Given the description of an element on the screen output the (x, y) to click on. 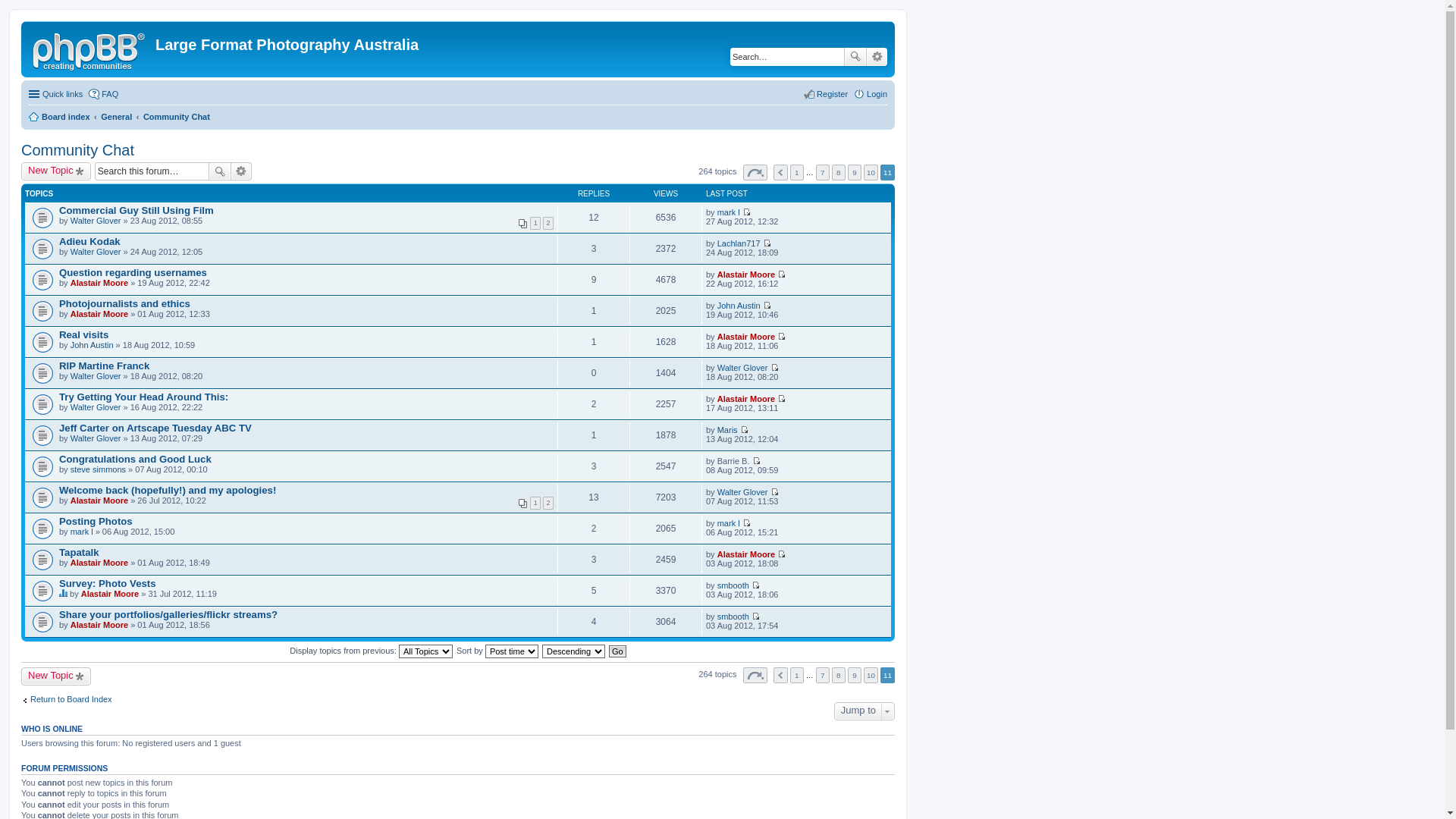
mark l Element type: text (728, 211)
Return to Board Index Element type: text (66, 698)
Login Element type: text (870, 93)
Previous Element type: text (780, 172)
Posting Photos Element type: text (95, 521)
Advanced search Element type: text (876, 56)
Walter Glover Element type: text (95, 251)
Page 11 of 11 Element type: text (755, 172)
Commercial Guy Still Using Film Element type: text (136, 210)
Previous Element type: text (780, 675)
Maris Element type: text (727, 429)
John Austin Element type: text (91, 344)
Walter Glover Element type: text (95, 406)
View the latest post Element type: text (774, 367)
View the latest post Element type: text (746, 211)
10 Element type: text (870, 675)
RIP Martine Franck Element type: text (104, 365)
8 Element type: text (838, 172)
New Topic Element type: text (56, 171)
View the latest post Element type: text (756, 460)
9 Element type: text (854, 675)
Alastair Moore Element type: text (746, 398)
Search Element type: text (855, 56)
View the latest post Element type: text (755, 616)
Walter Glover Element type: text (95, 220)
Congratulations and Good Luck Element type: text (135, 458)
Try Getting Your Head Around This: Element type: text (143, 396)
View the latest post Element type: text (766, 242)
mark l Element type: text (728, 522)
View the latest post Element type: text (781, 336)
View the latest post Element type: text (781, 398)
Share your portfolios/galleries/flickr streams? Element type: text (168, 614)
1 Element type: text (535, 502)
Walter Glover Element type: text (742, 491)
9 Element type: text (854, 172)
steve simmons Element type: text (97, 468)
Search Element type: text (219, 171)
Board index Element type: text (59, 116)
Question regarding usernames Element type: text (133, 272)
Community Chat Element type: text (176, 116)
Alastair Moore Element type: text (99, 500)
Walter Glover Element type: text (742, 367)
View the latest post Element type: text (746, 522)
mark l Element type: text (81, 531)
Walter Glover Element type: text (95, 375)
smbooth Element type: text (733, 584)
John Austin Element type: text (738, 305)
Alastair Moore Element type: text (99, 313)
Photojournalists and ethics Element type: text (124, 303)
2 Element type: text (547, 502)
Alastair Moore Element type: text (109, 593)
10 Element type: text (870, 172)
View the latest post Element type: text (755, 584)
Alastair Moore Element type: text (746, 336)
View the latest post Element type: text (781, 274)
1 Element type: text (535, 222)
8 Element type: text (838, 675)
7 Element type: text (822, 675)
Real visits Element type: text (83, 334)
1 Element type: text (796, 172)
Jeff Carter on Artscape Tuesday ABC TV Element type: text (155, 427)
View the latest post Element type: text (744, 429)
Alastair Moore Element type: text (99, 282)
Advanced search Element type: text (241, 171)
Survey: Photo Vests Element type: text (107, 583)
1 Element type: text (796, 675)
Walter Glover Element type: text (95, 437)
7 Element type: text (822, 172)
FAQ Element type: text (102, 93)
Board index Element type: hover (90, 49)
Page 11 of 11 Element type: text (755, 675)
View the latest post Element type: text (774, 491)
Community Chat Element type: text (77, 149)
Lachlan717 Element type: text (738, 242)
Welcome back (hopefully!) and my apologies! Element type: text (167, 489)
Tapatalk Element type: text (79, 552)
Alastair Moore Element type: text (746, 274)
Go Element type: text (617, 651)
Adieu Kodak Element type: text (89, 241)
Search for keywords Element type: hover (787, 56)
Alastair Moore Element type: text (99, 624)
Alastair Moore Element type: text (746, 553)
Quick links Element type: text (55, 93)
View the latest post Element type: text (766, 305)
View the latest post Element type: text (781, 553)
smbooth Element type: text (733, 616)
2 Element type: text (547, 222)
General Element type: text (115, 116)
Alastair Moore Element type: text (99, 562)
New Topic Element type: text (56, 676)
Register Element type: text (825, 93)
